Given the description of an element on the screen output the (x, y) to click on. 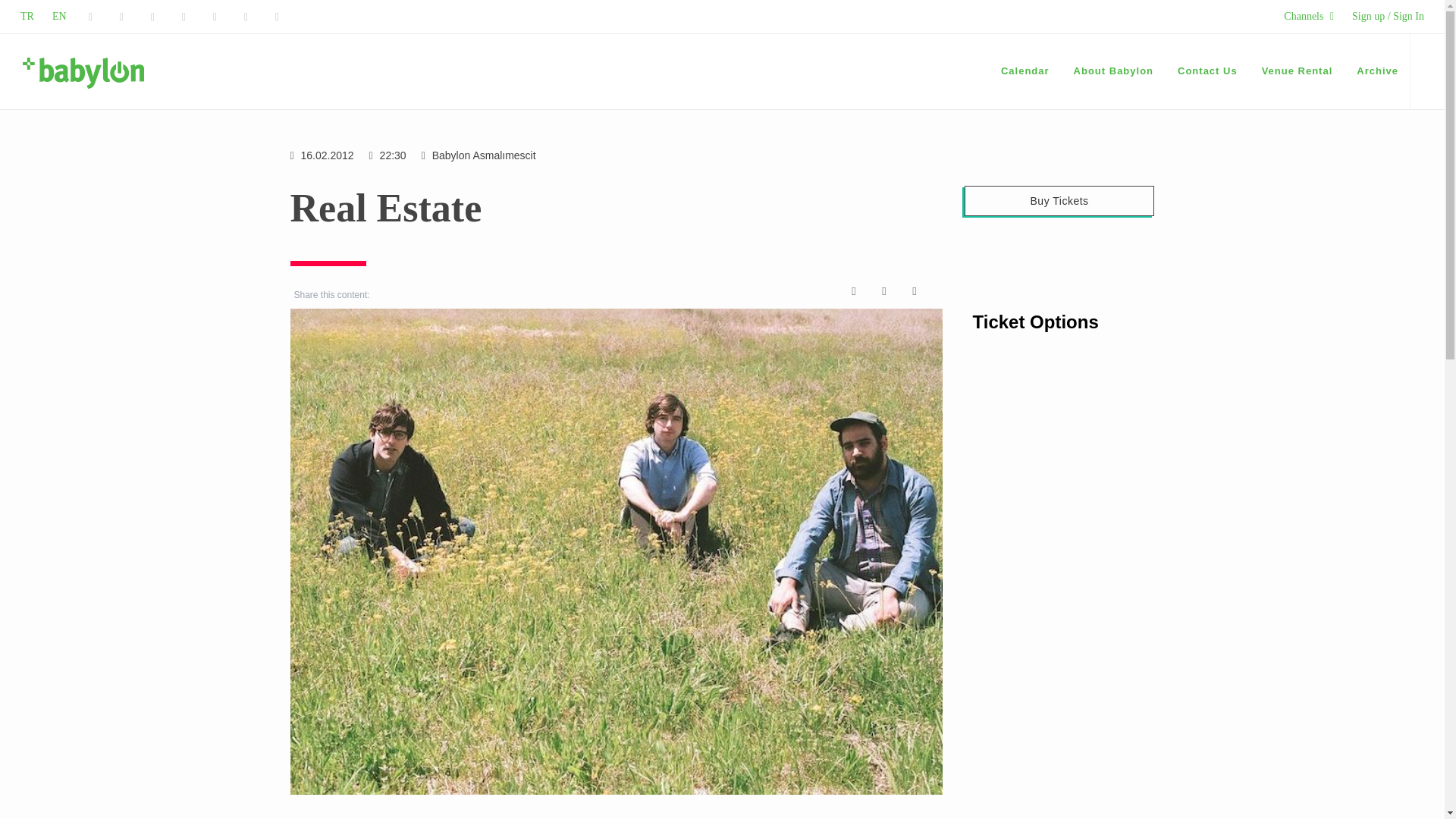
TR (27, 16)
Contact Us (1207, 71)
Venue Rental (1296, 71)
EN (59, 16)
Channels (1308, 16)
About Babylon (1113, 71)
Calendar (1025, 71)
Buy Tickets (1058, 200)
